Given the description of an element on the screen output the (x, y) to click on. 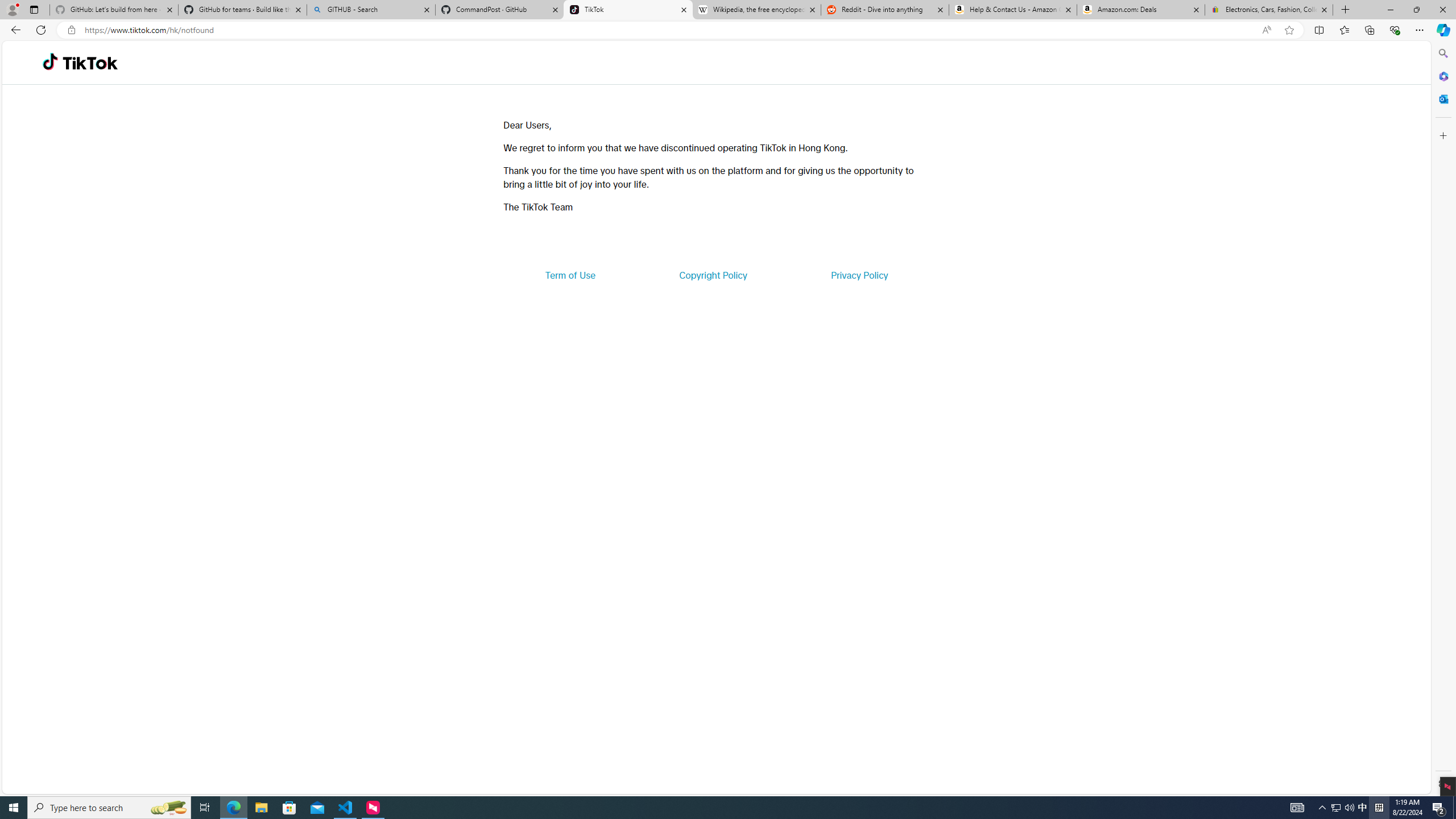
Copyright Policy (712, 274)
Privacy Policy (858, 274)
